Given the description of an element on the screen output the (x, y) to click on. 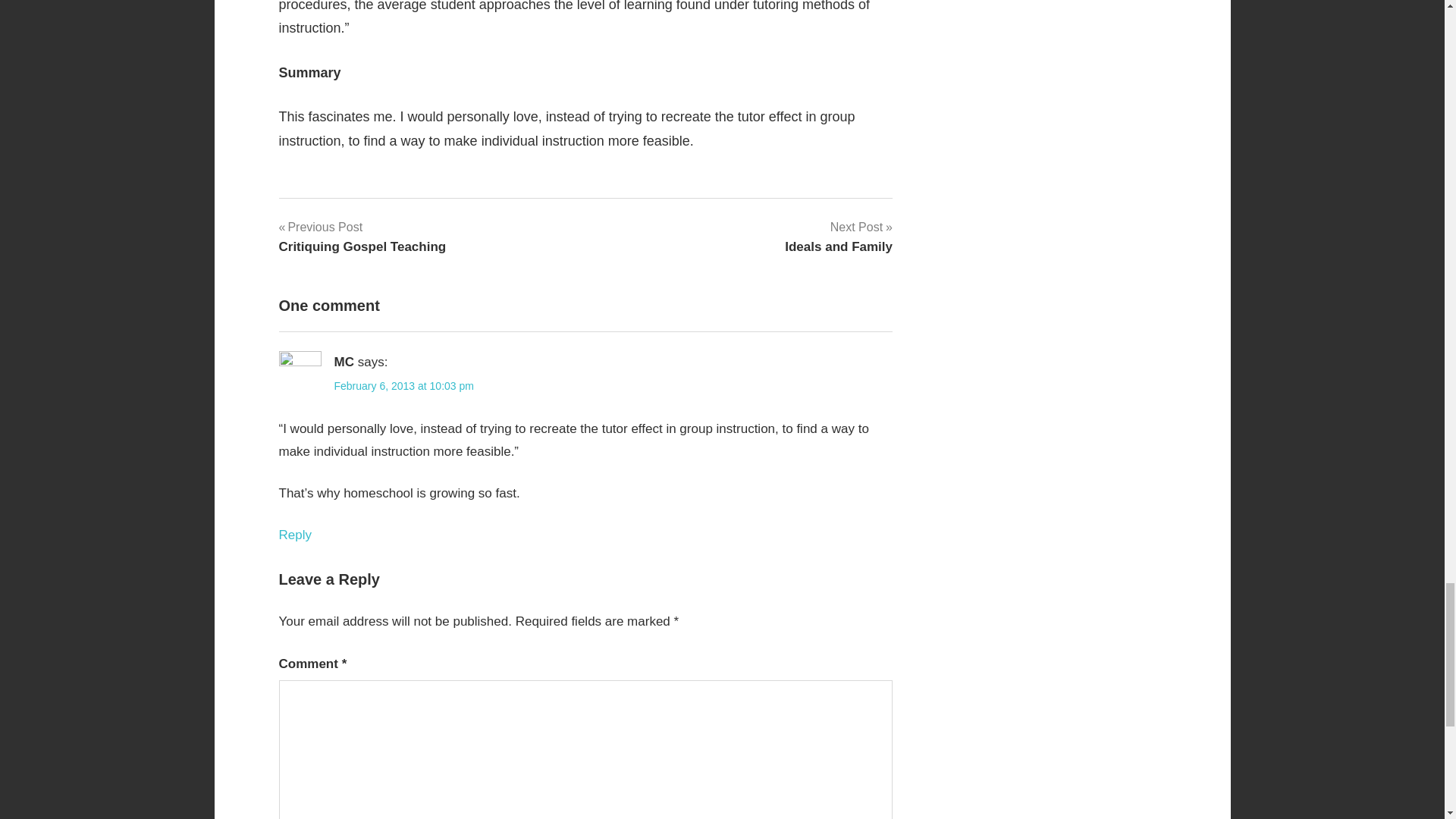
Reply (295, 534)
February 6, 2013 at 10:03 pm (403, 386)
